Given the description of an element on the screen output the (x, y) to click on. 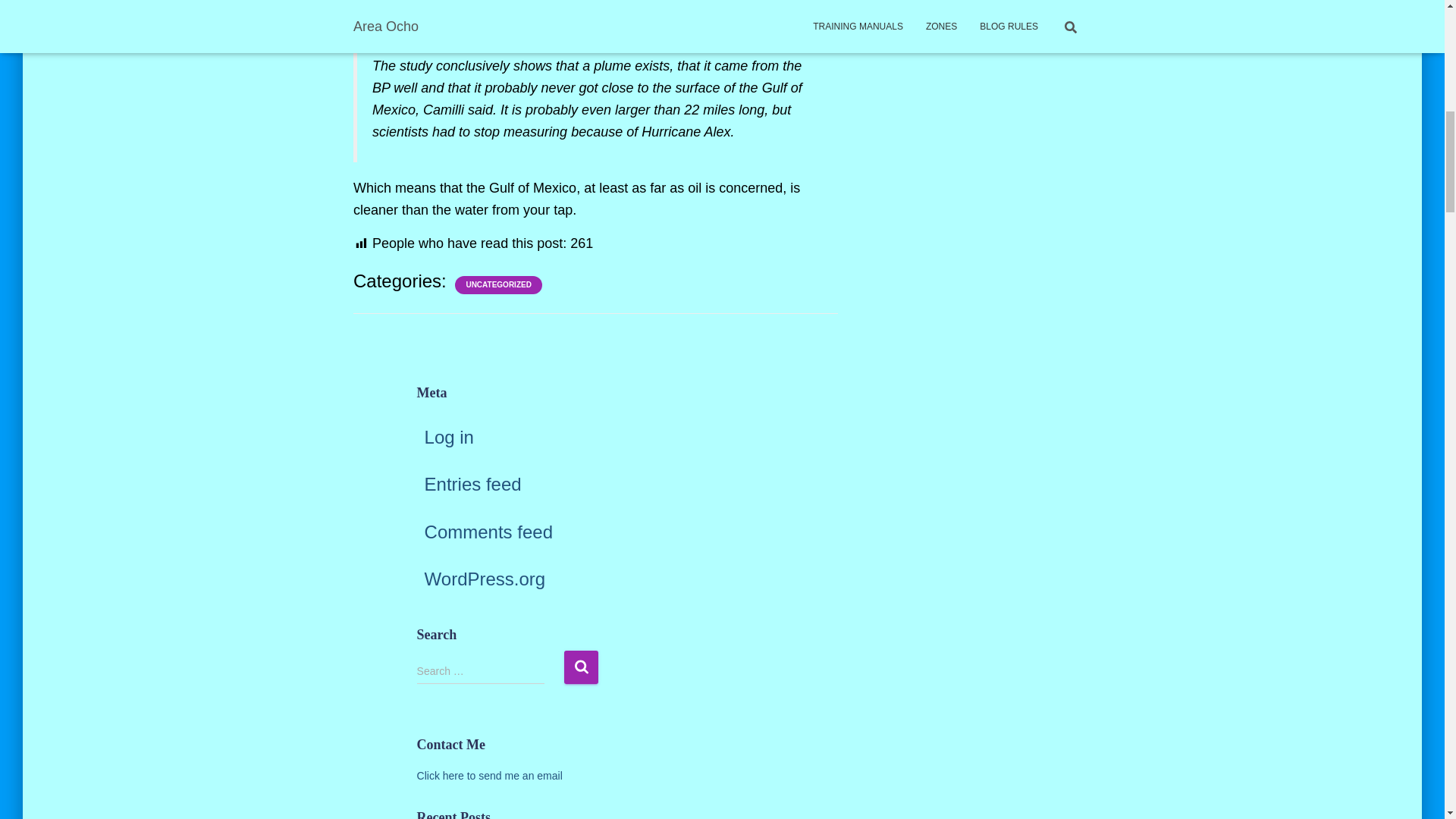
UNCATEGORIZED (498, 285)
Search (581, 666)
Entries feed (473, 484)
Search (581, 666)
Comments feed (489, 531)
WordPress.org (485, 578)
Search (581, 666)
Click here to send me an email (489, 775)
Log in (449, 436)
